Given the description of an element on the screen output the (x, y) to click on. 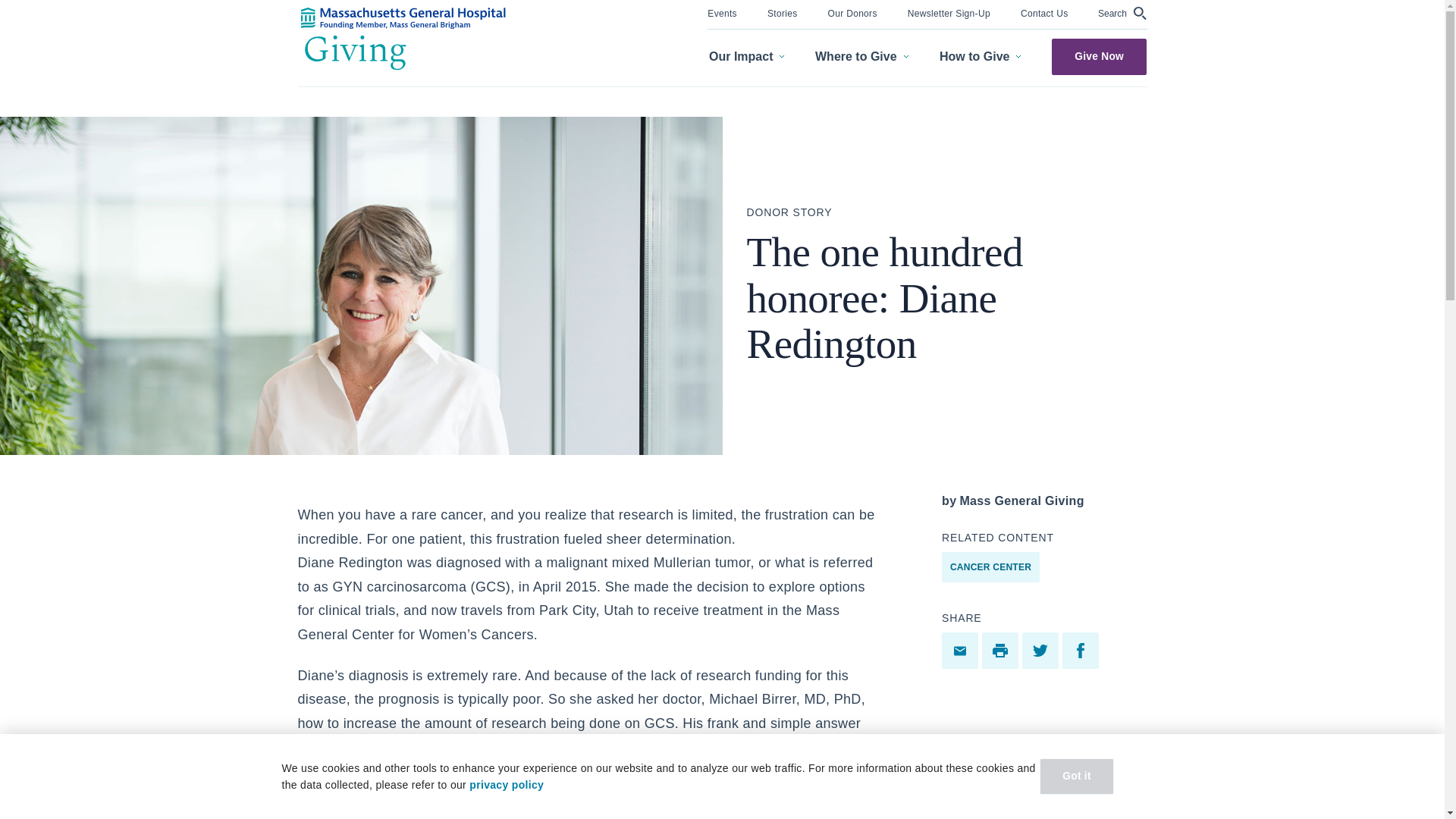
Events (721, 11)
Contact Us (1044, 11)
Stories (782, 11)
Give Now (1099, 56)
Search (1122, 12)
CANCER CENTER (990, 567)
Where to Give (861, 56)
Newsletter Sign-Up (948, 11)
Our Impact (746, 56)
How to Give (980, 56)
Our Donors (852, 11)
